Given the description of an element on the screen output the (x, y) to click on. 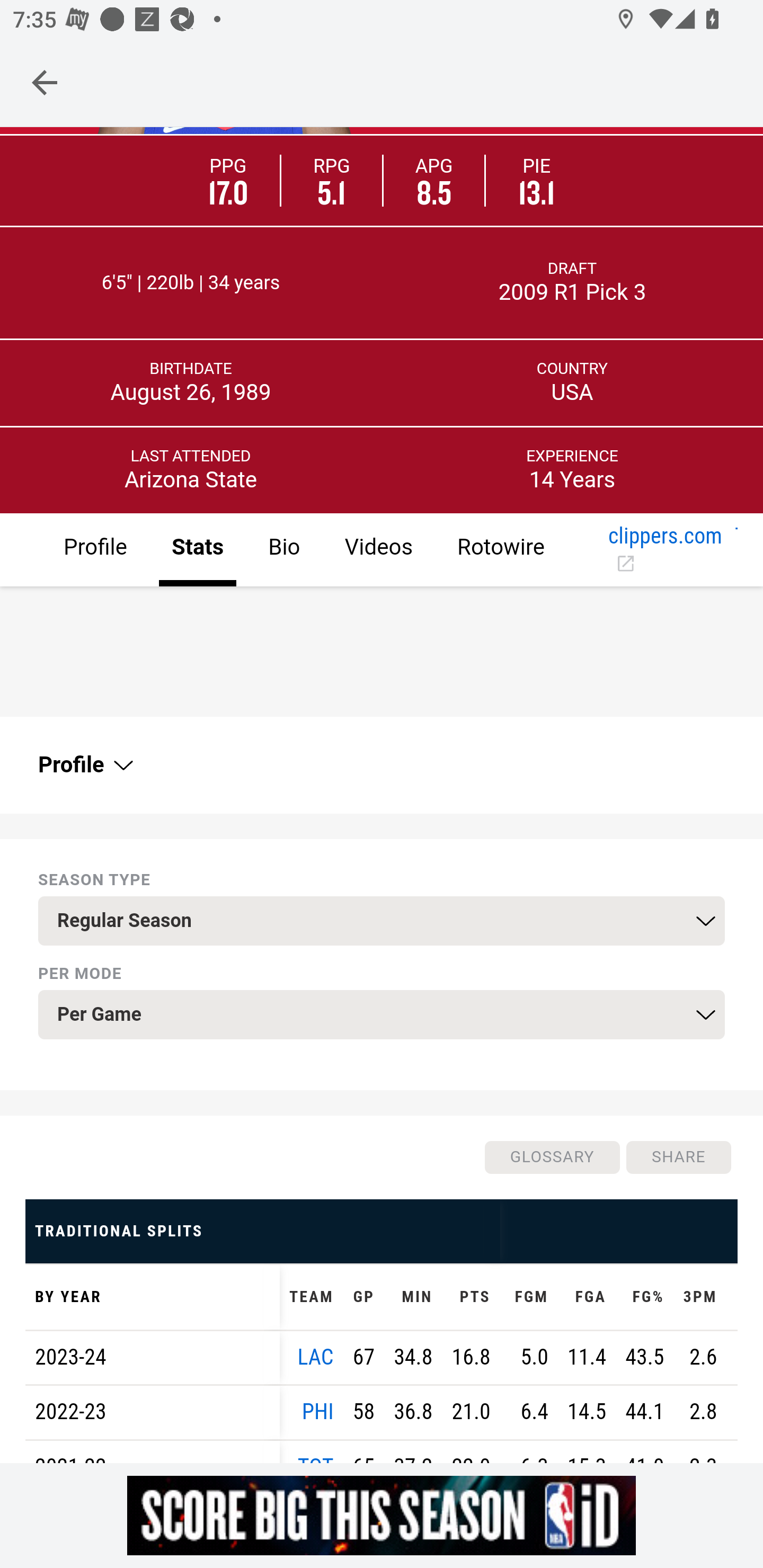
Navigate up (44, 82)
Profile (95, 551)
Stats (196, 551)
Bio (283, 551)
Videos (377, 551)
Rotowire (500, 551)
clippers.com (665, 551)
Profile (84, 765)
Regular Season (381, 921)
Per Game (381, 1015)
GLOSSARY (550, 1157)
SHARE (677, 1157)
BY YEAR (152, 1297)
TEAM (311, 1297)
GP (362, 1297)
MIN (413, 1297)
PTS (470, 1297)
FGM (528, 1297)
FGA (586, 1297)
FG% (643, 1297)
3PM (699, 1297)
LAC (315, 1357)
PHI (317, 1412)
g5nqqygr7owph (381, 1515)
